Given the description of an element on the screen output the (x, y) to click on. 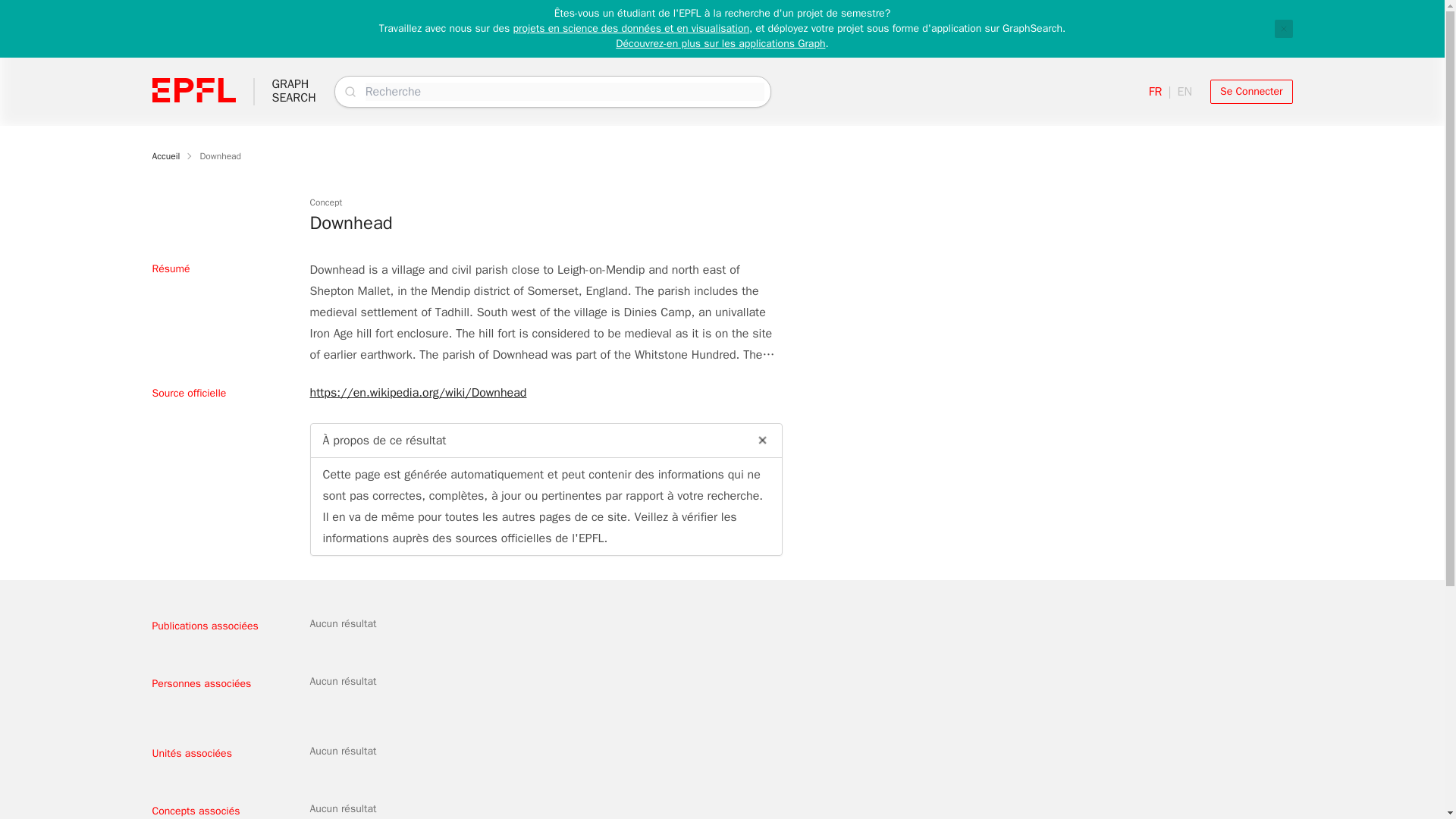
Se Connecter (292, 90)
Downhead (1250, 91)
Accueil (220, 155)
Close notification (165, 155)
